Given the description of an element on the screen output the (x, y) to click on. 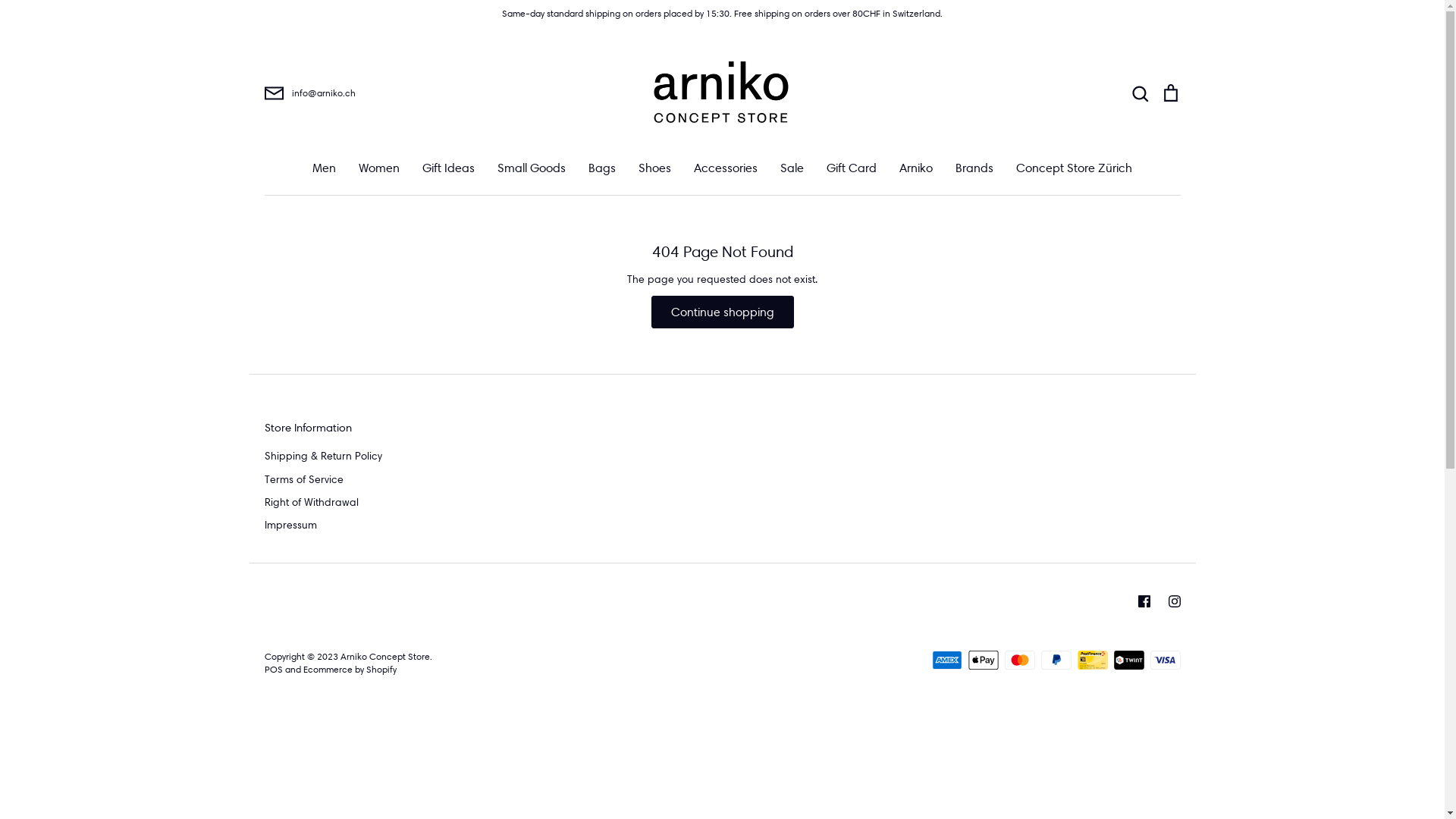
Shipping & Return Policy Element type: text (322, 455)
Men Element type: text (323, 167)
Gift Ideas Element type: text (448, 167)
Accessories Element type: text (725, 167)
Brands Element type: text (974, 167)
Sale Element type: text (791, 167)
Shoes Element type: text (654, 167)
Women Element type: text (378, 167)
Small Goods Element type: text (531, 167)
Arniko Concept Store Element type: text (384, 656)
Impressum Element type: text (289, 524)
info@arniko.ch Element type: text (414, 93)
Gift Card Element type: text (851, 167)
Right of Withdrawal Element type: text (310, 501)
Cart Element type: text (1169, 93)
Terms of Service Element type: text (302, 478)
Search Element type: text (1139, 93)
POS Element type: text (272, 668)
Arniko Element type: text (915, 167)
Ecommerce by Shopify Element type: text (349, 668)
Bags Element type: text (601, 167)
Continue shopping Element type: text (721, 312)
